Given the description of an element on the screen output the (x, y) to click on. 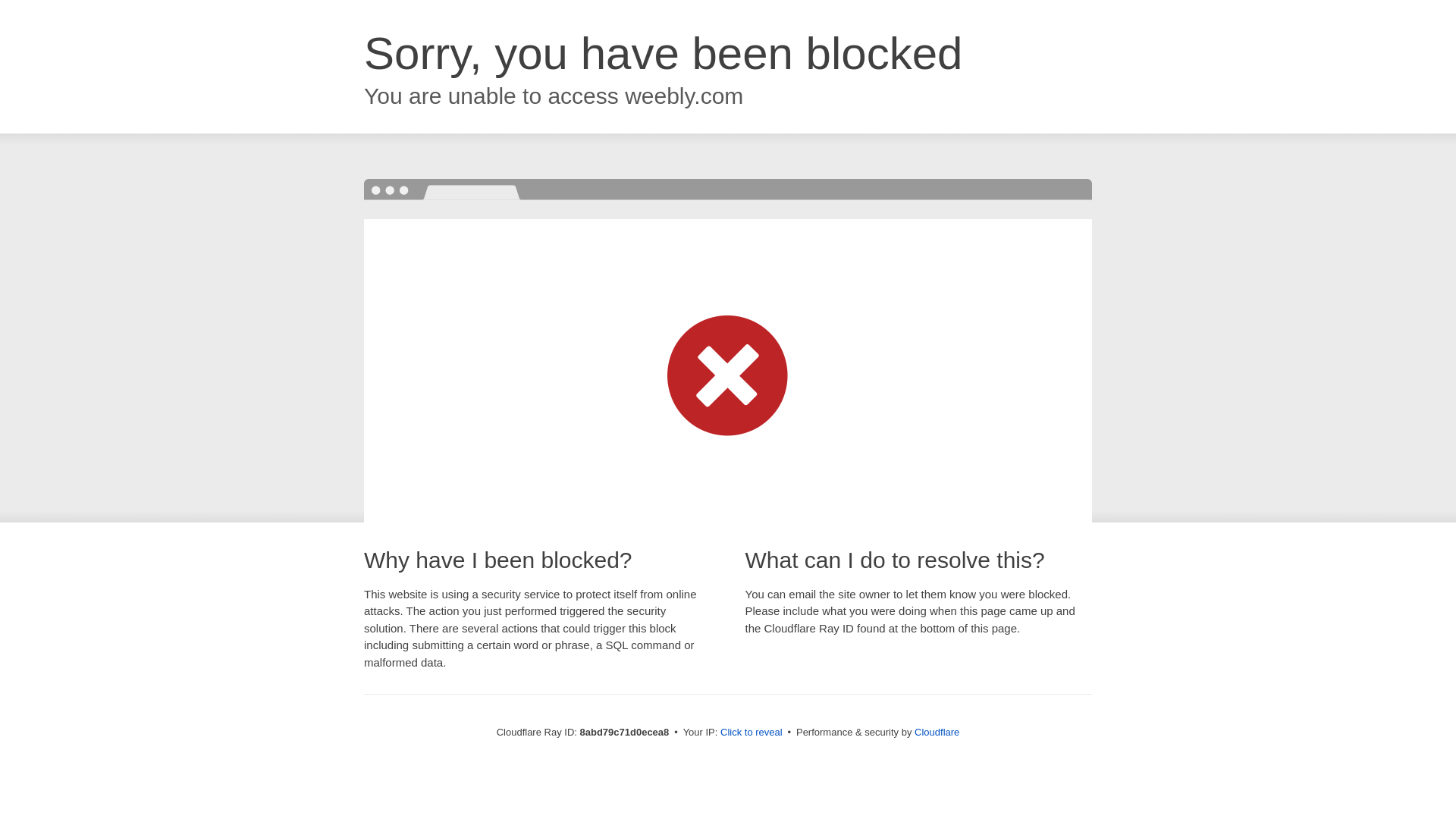
Click to reveal (751, 732)
Cloudflare (936, 731)
